Given the description of an element on the screen output the (x, y) to click on. 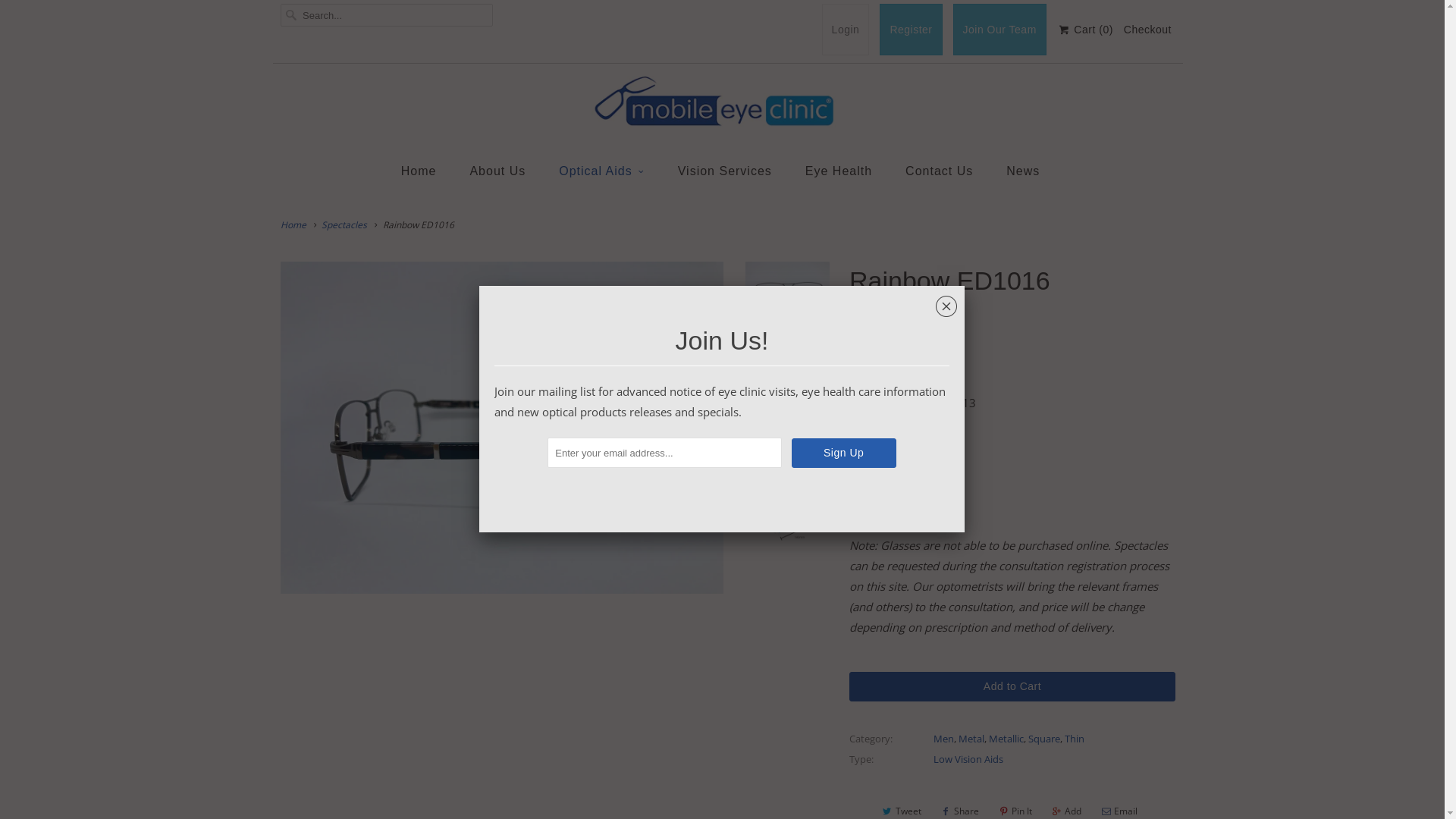
Low Vision Aids Element type: text (967, 758)
Men Element type: text (942, 738)
Square Element type: text (1044, 738)
Rainbow ED1016 Element type: hover (501, 427)
Mobile Eye Clinic Element type: text (893, 330)
Home Element type: text (293, 224)
Metal Element type: text (971, 738)
Spectacles Element type: text (344, 224)
Cart (0) Element type: text (1085, 29)
Vision Services Element type: text (724, 171)
Checkout Element type: text (1147, 29)
Metallic Element type: text (1005, 738)
Mobile Eye Clinic Element type: hover (727, 104)
Home Element type: text (418, 171)
Thin Element type: text (1074, 738)
Register Element type: text (910, 29)
Join Our Team Element type: text (999, 29)
Optical Aids Element type: text (600, 171)
About Us Element type: text (497, 171)
Login Element type: text (845, 29)
Add to Cart Element type: text (1012, 686)
Contact Us Element type: text (938, 171)
Eye Health Element type: text (838, 171)
Sign Up Element type: text (843, 452)
News Element type: text (1022, 171)
